Given the description of an element on the screen output the (x, y) to click on. 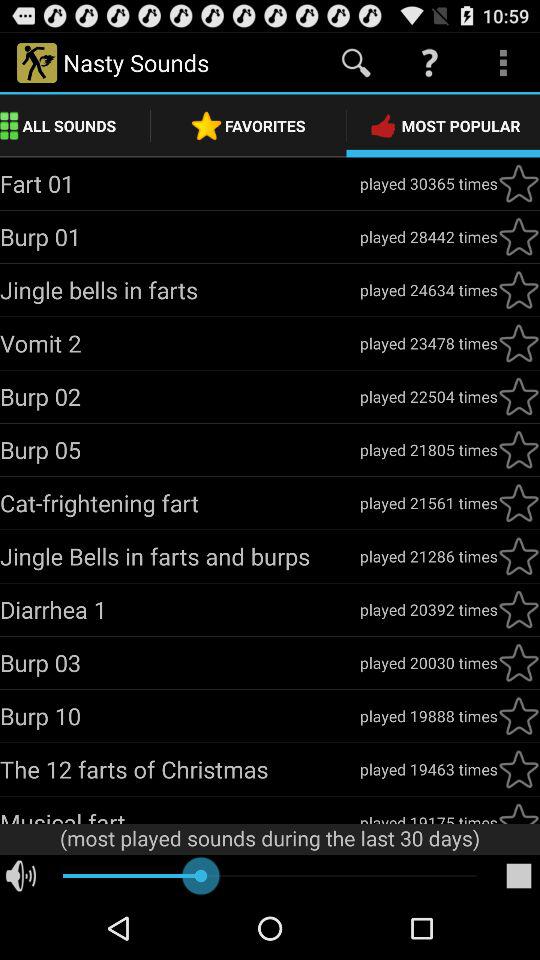
jump until the cat-frightening fart app (180, 502)
